Given the description of an element on the screen output the (x, y) to click on. 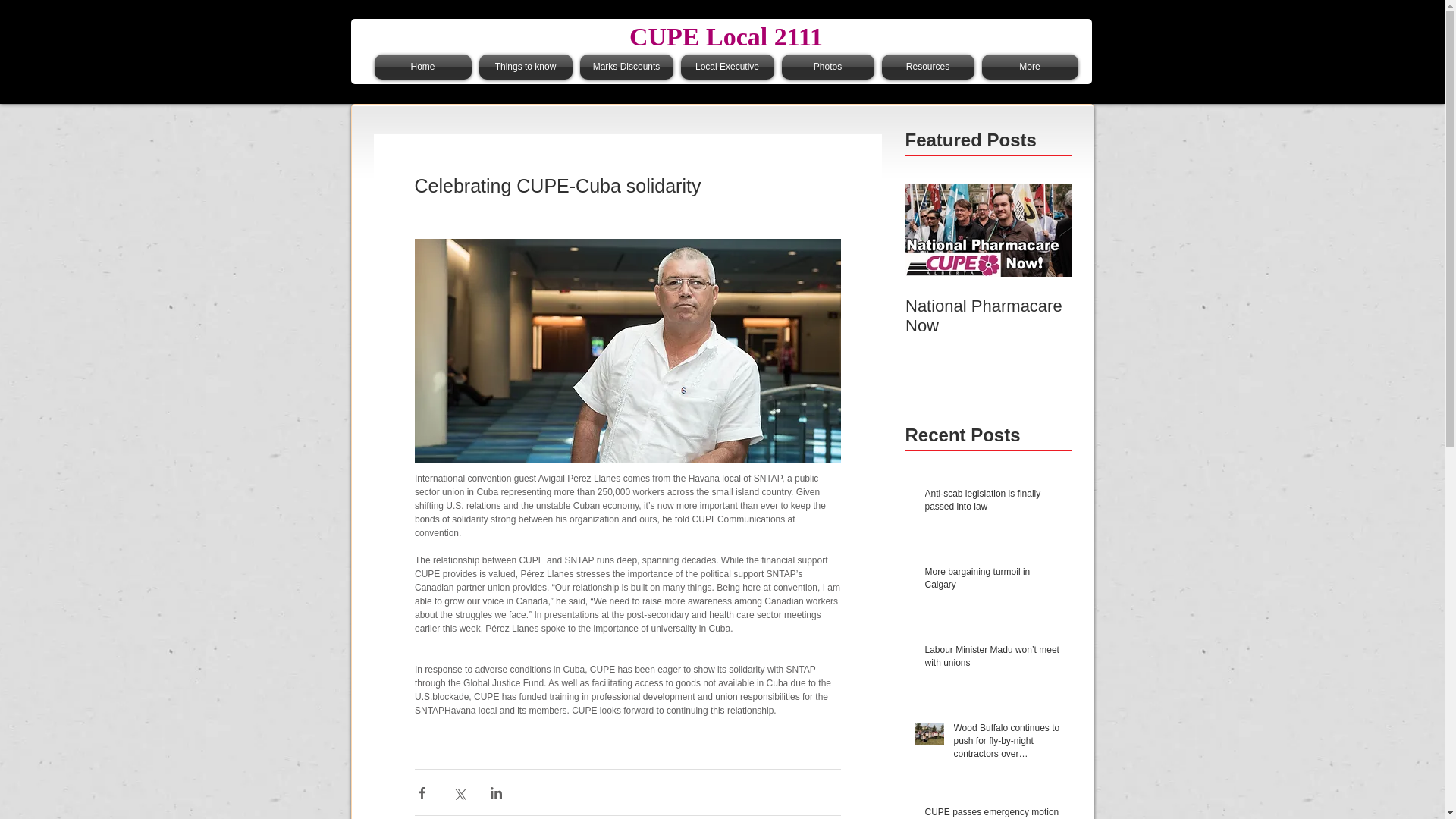
Anti-scab legislation is finally passed into law (993, 503)
National Pharmacare Now (988, 290)
Photos (827, 66)
CUPE Local 2111 (725, 36)
National Pharmacare Now (988, 315)
Things to know (524, 66)
Home (425, 66)
Local Executive (727, 66)
More bargaining turmoil in Calgary (993, 581)
Resources (927, 66)
Marks Discounts (626, 66)
National Pharmacare Now (988, 290)
